Given the description of an element on the screen output the (x, y) to click on. 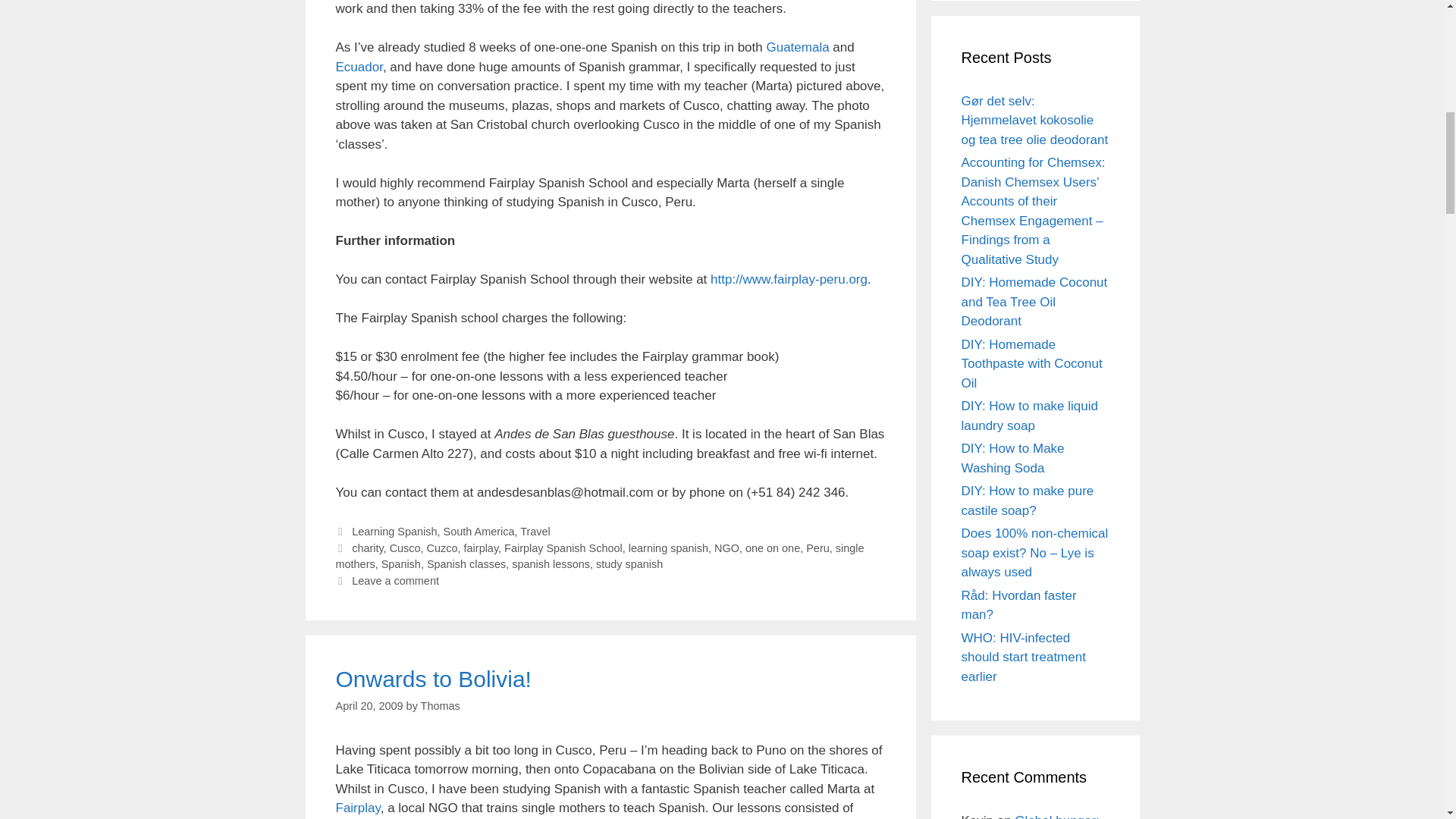
4:51 am (368, 705)
View all posts by Thomas (440, 705)
charity (367, 548)
spanish lessons (550, 563)
Fairplay Spanish School (563, 548)
Peru (817, 548)
one on one (772, 548)
Spanish (400, 563)
study spanish (628, 563)
Cuzco (442, 548)
